Given the description of an element on the screen output the (x, y) to click on. 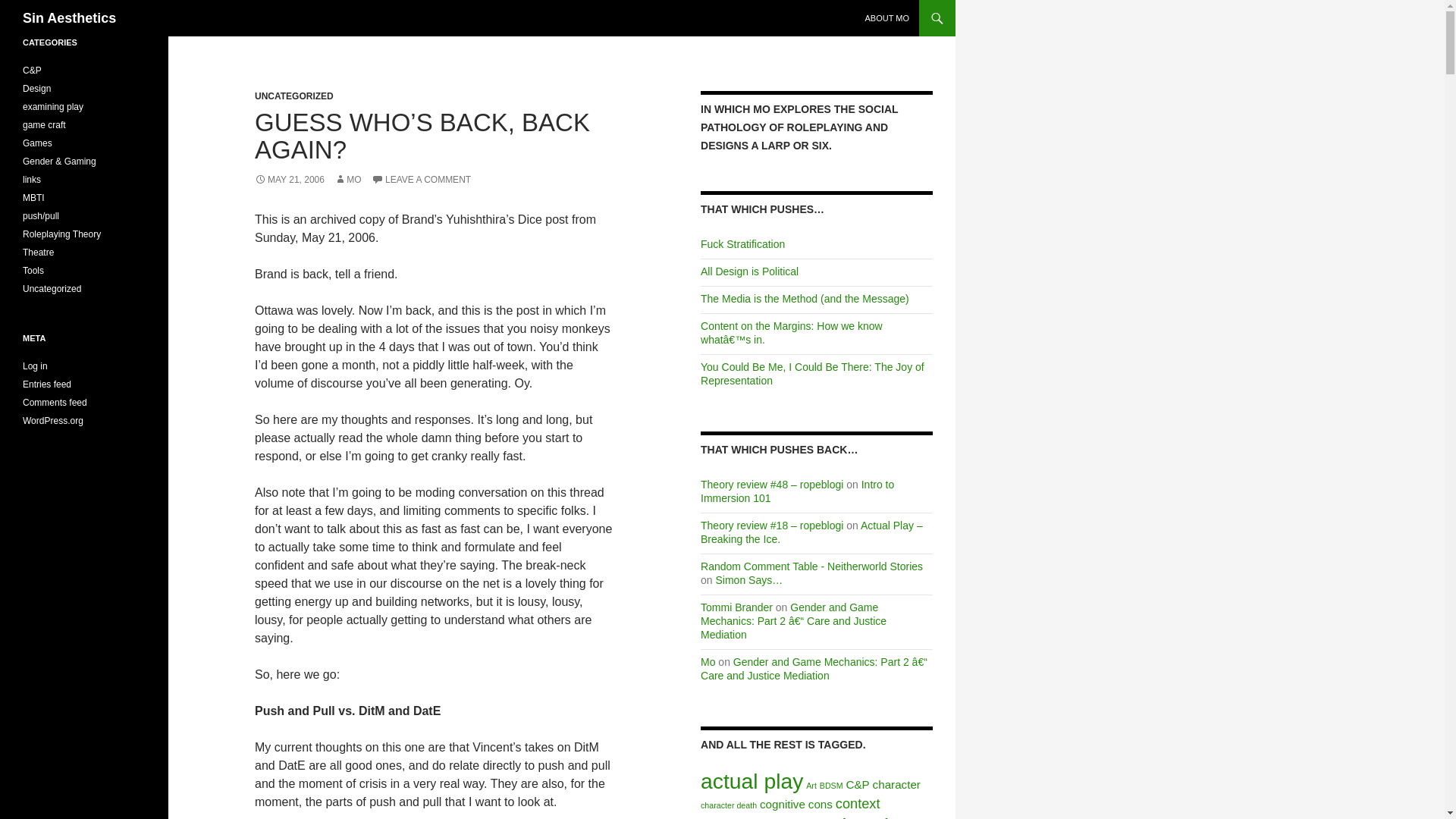
Intro to Immersion 101 (796, 491)
Art (811, 785)
MO (347, 179)
You Could Be Me, I Could Be There: The Joy of Representation (812, 373)
All Design is Political (748, 271)
ABOUT MO (887, 18)
cognitive (782, 803)
Mo (707, 662)
context (857, 803)
character (896, 784)
UNCATEGORIZED (293, 95)
Tommi Brander (736, 607)
actual play (751, 781)
MAY 21, 2006 (289, 179)
BDSM (831, 785)
